Given the description of an element on the screen output the (x, y) to click on. 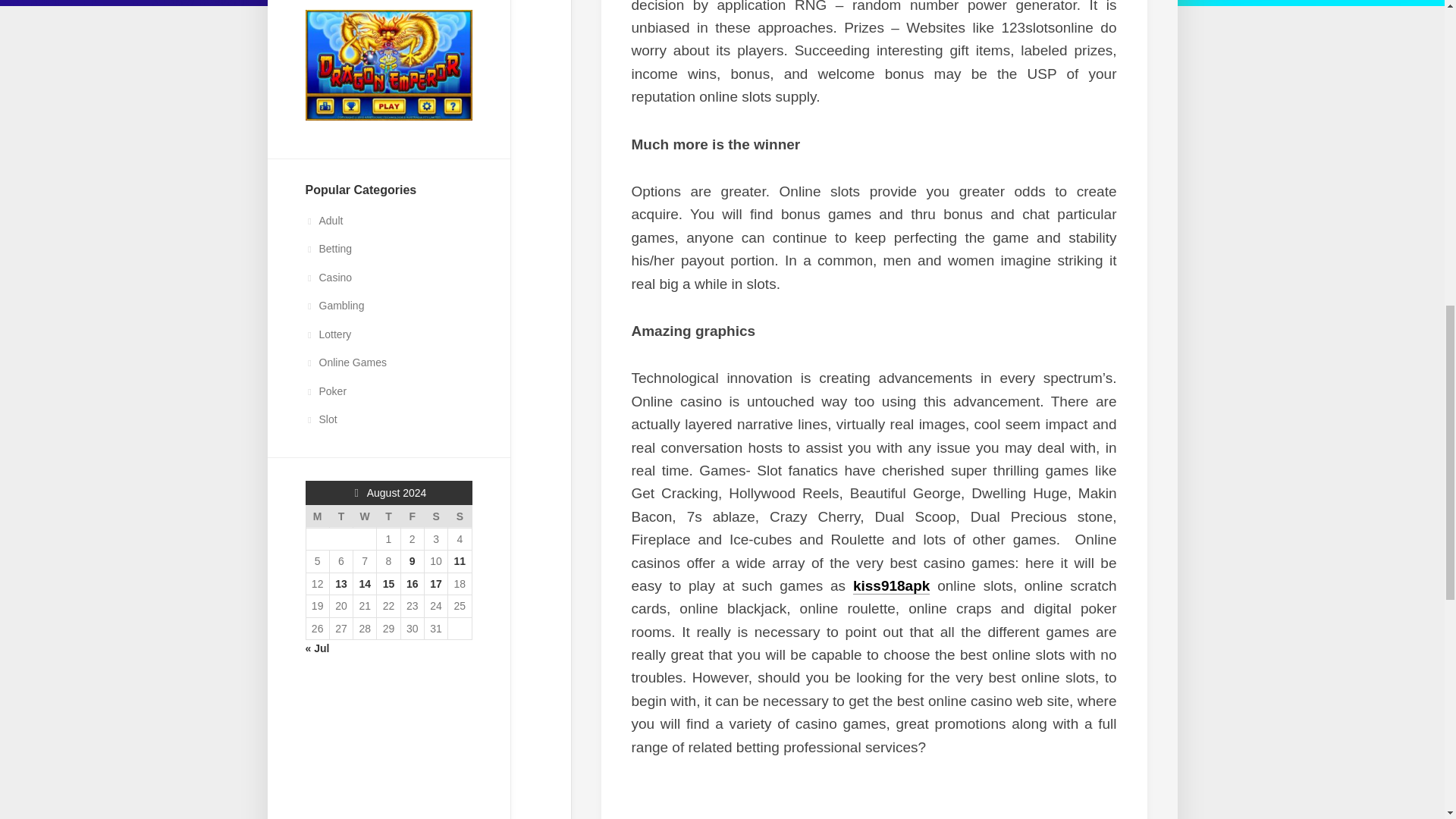
Poker (325, 390)
13 (340, 583)
Tuesday (340, 517)
Betting (328, 248)
Online Games (344, 362)
16 (412, 583)
Lottery (327, 334)
kiss918apk (891, 585)
Gambling (334, 305)
Casino (328, 277)
